Given the description of an element on the screen output the (x, y) to click on. 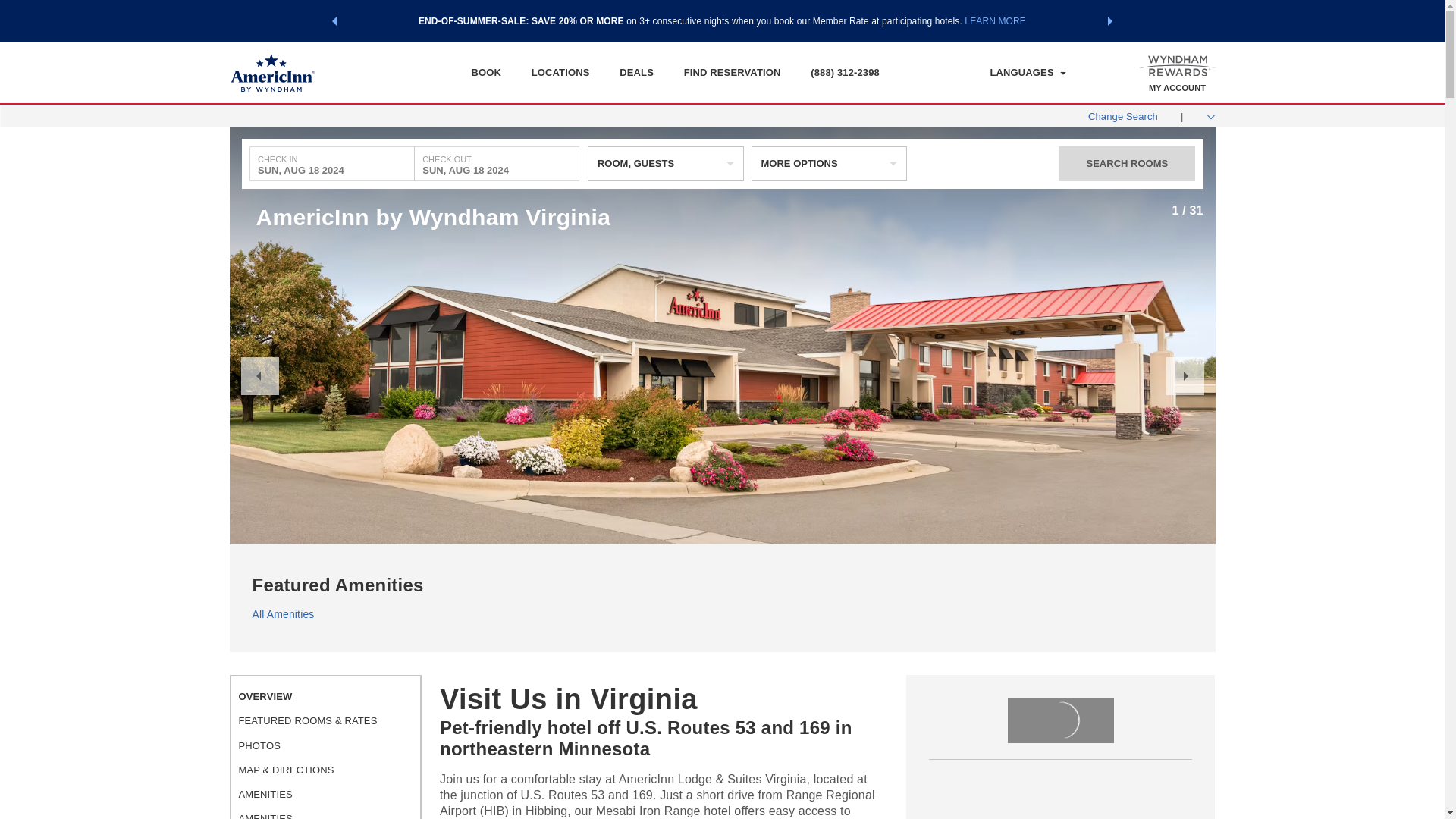
FIND RESERVATION (732, 72)
DEALS (636, 72)
MY ACCOUNT (1176, 87)
LANGUAGES (1028, 72)
LEARN MORE (994, 20)
BOOK (485, 72)
LOCATIONS (560, 72)
